Given the description of an element on the screen output the (x, y) to click on. 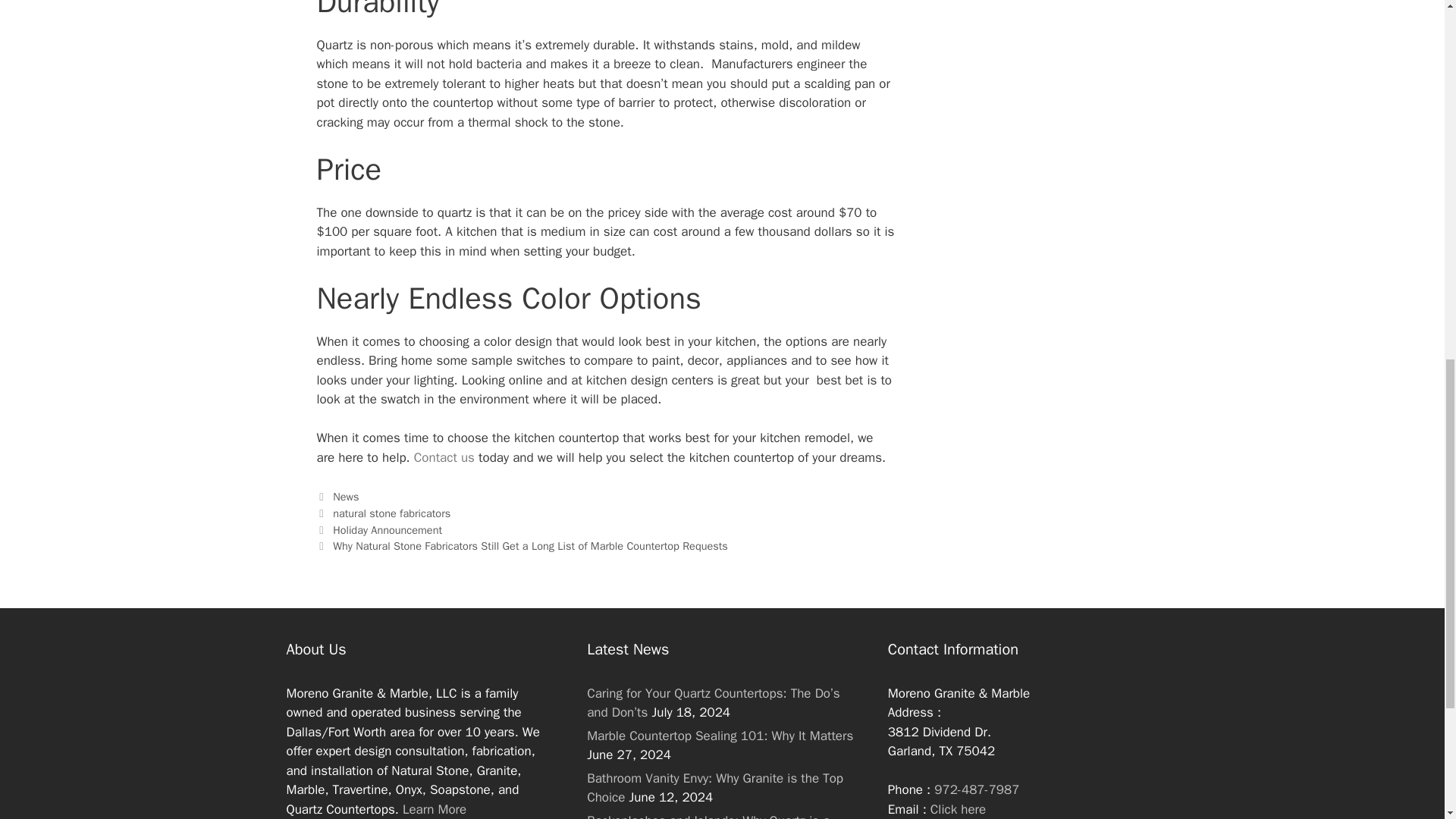
Marble Countertop Sealing 101: Why It Matters (719, 735)
Learn More (434, 809)
natural stone fabricators (391, 513)
Previous (379, 530)
News (345, 496)
Holiday Announcement (387, 530)
Next (522, 545)
Bathroom Vanity Envy: Why Granite is the Top Choice (714, 787)
Contact us (443, 457)
